Given the description of an element on the screen output the (x, y) to click on. 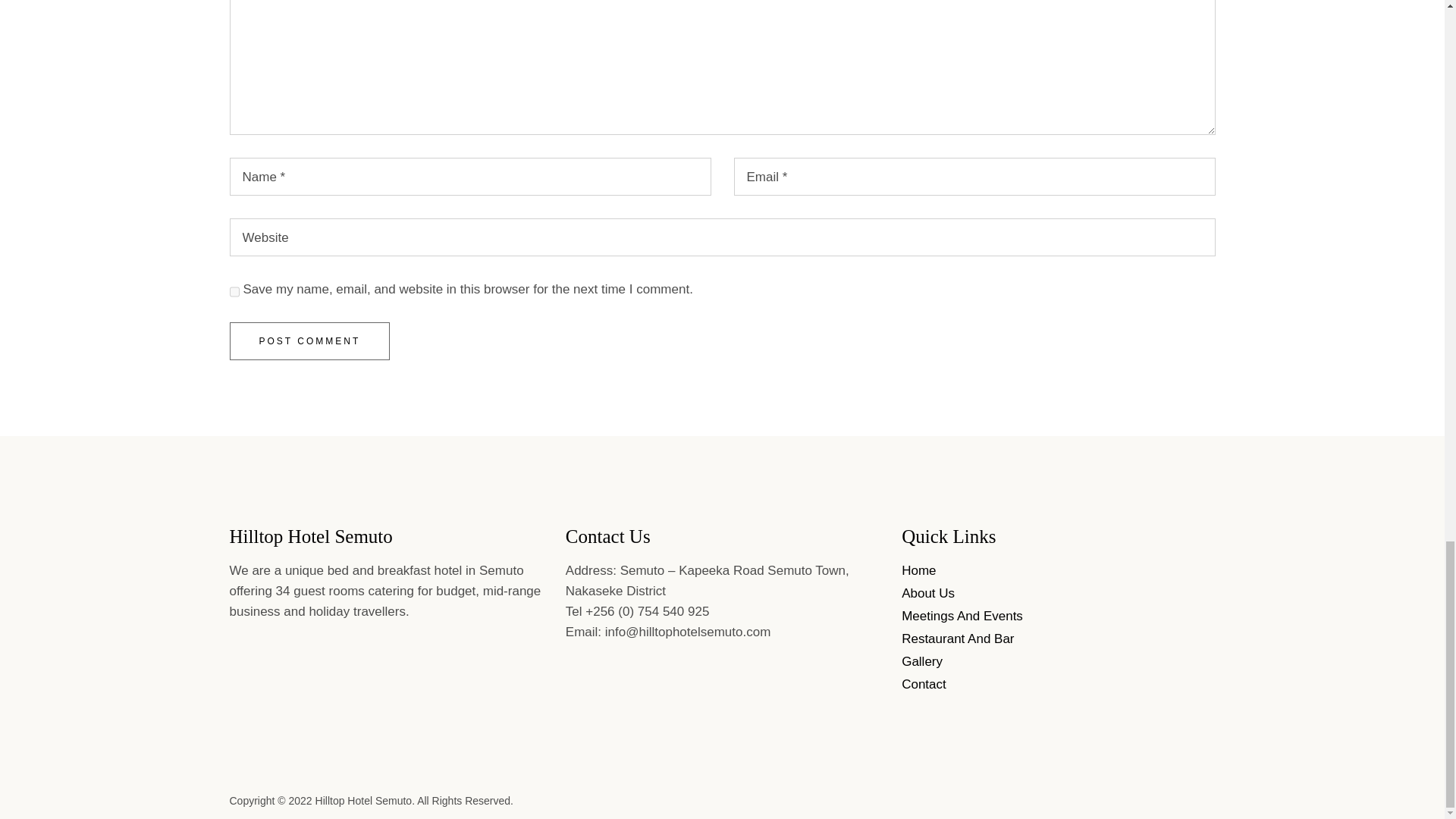
POST COMMENT (309, 341)
Home (918, 570)
Meetings And Events (962, 616)
Contact (923, 684)
Gallery (921, 661)
About Us (928, 593)
Restaurant And Bar (957, 638)
